Given the description of an element on the screen output the (x, y) to click on. 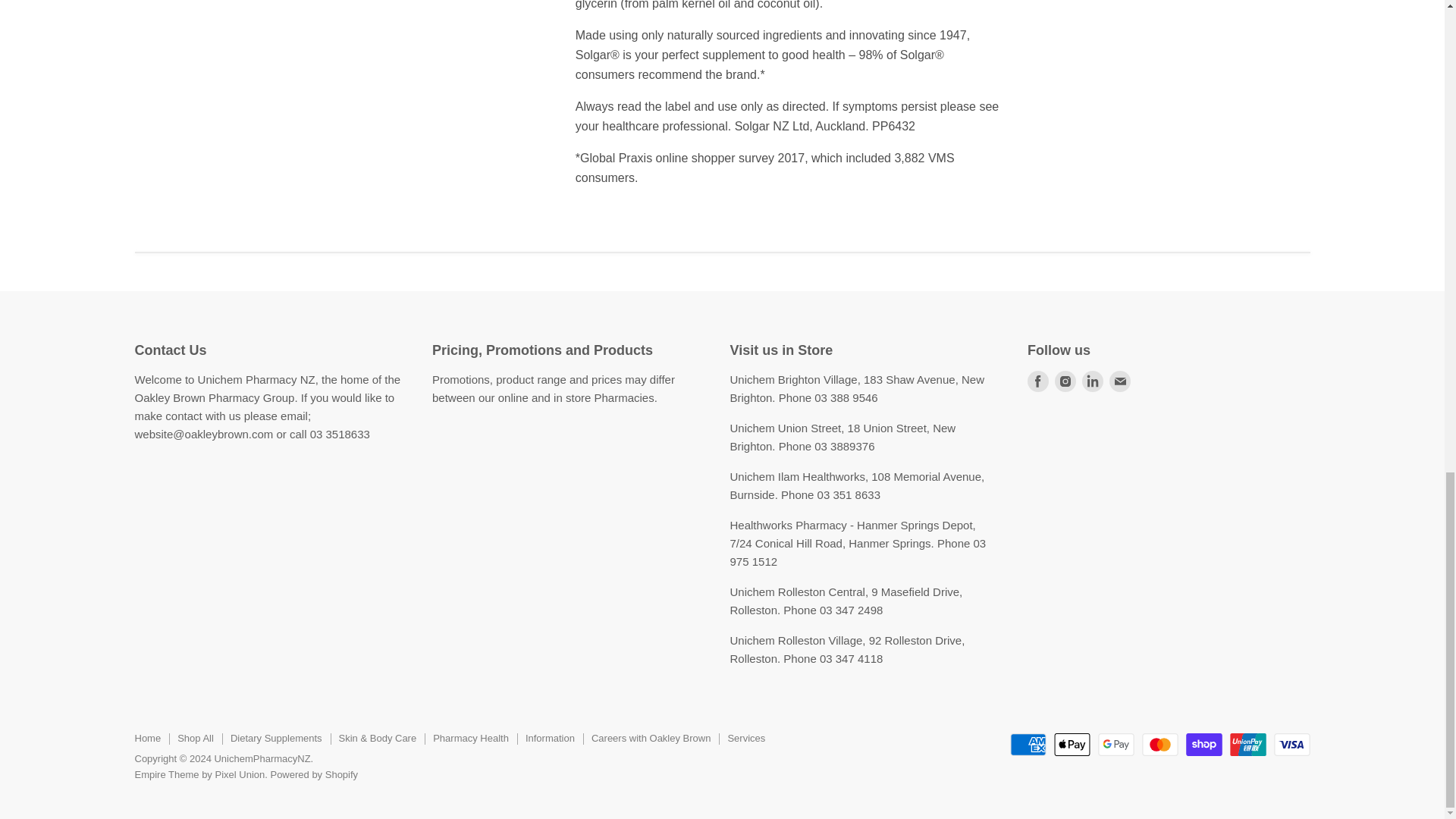
Apple Pay (1072, 744)
E-mail (1120, 380)
LinkedIn (1092, 380)
Instagram (1064, 380)
Facebook (1038, 380)
American Express (1028, 744)
